Given the description of an element on the screen output the (x, y) to click on. 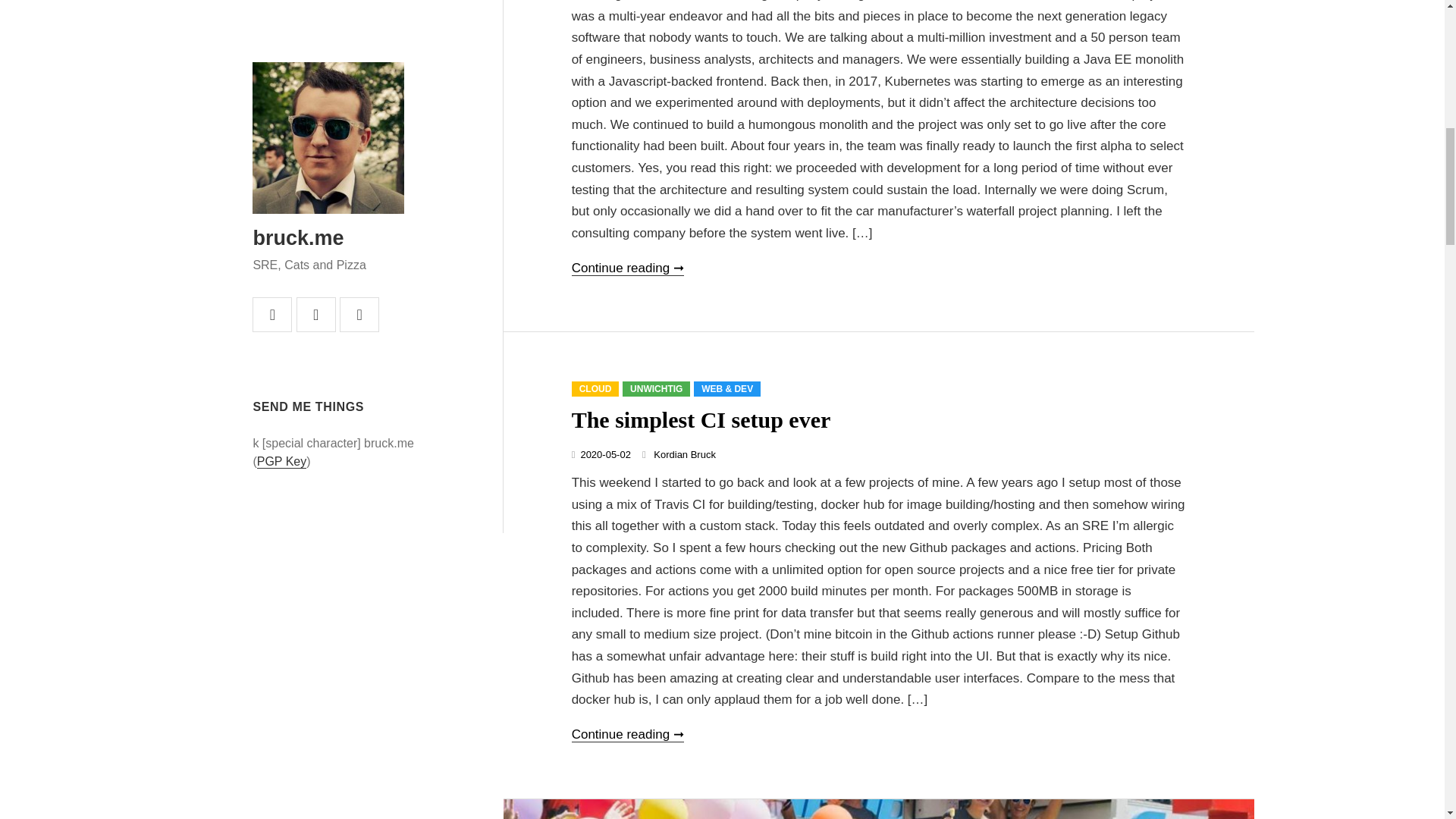
CLOUD (596, 388)
Kordian Bruck (684, 454)
Chase your Dreams (878, 809)
2020-05-02 (604, 454)
The simplest CI setup ever (701, 419)
UNWICHTIG (656, 388)
